Given the description of an element on the screen output the (x, y) to click on. 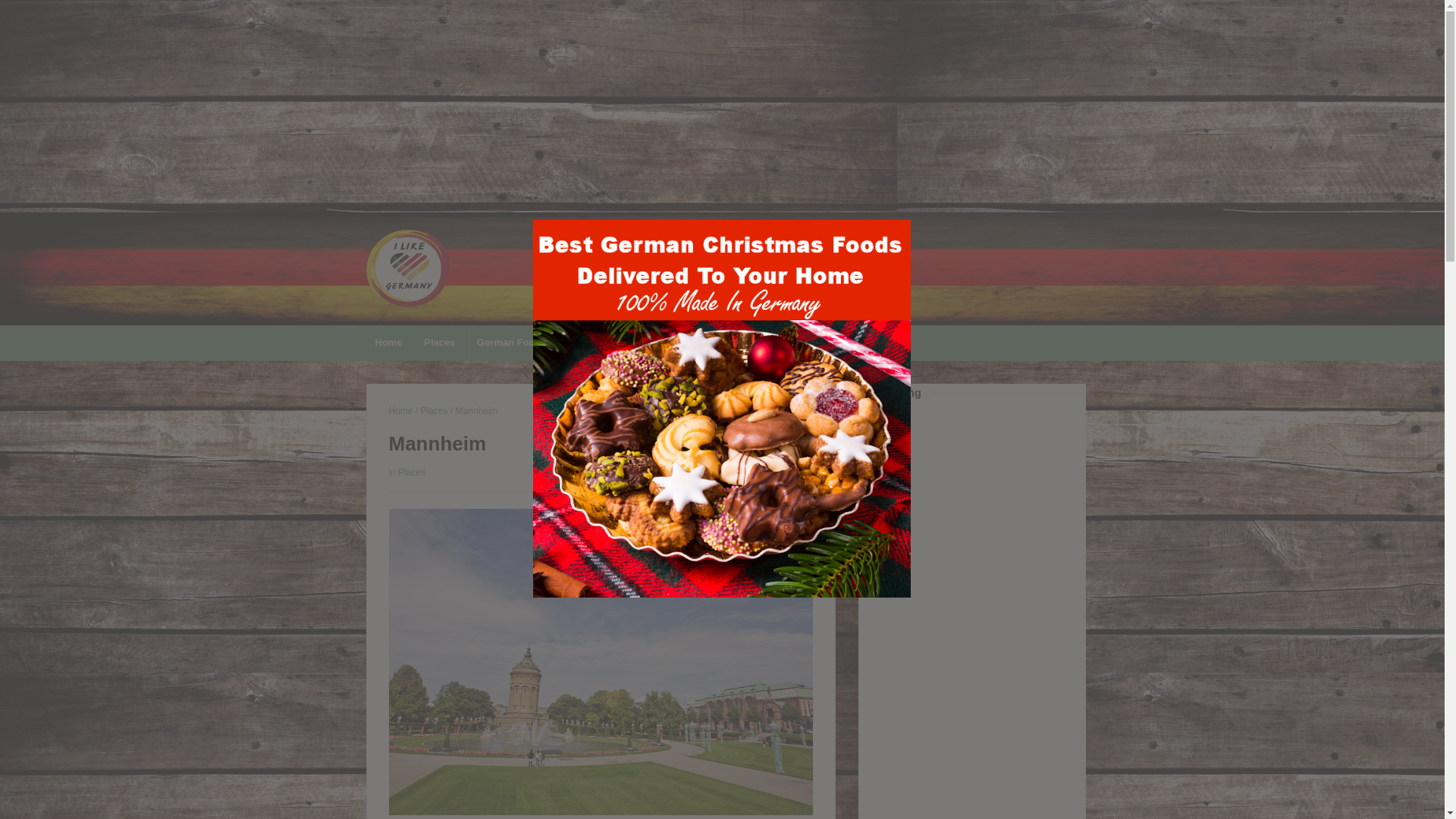
Home (400, 410)
Places (439, 342)
Places (434, 410)
Home (387, 342)
People (686, 342)
Culture (631, 342)
About (737, 342)
Places (411, 471)
